Given the description of an element on the screen output the (x, y) to click on. 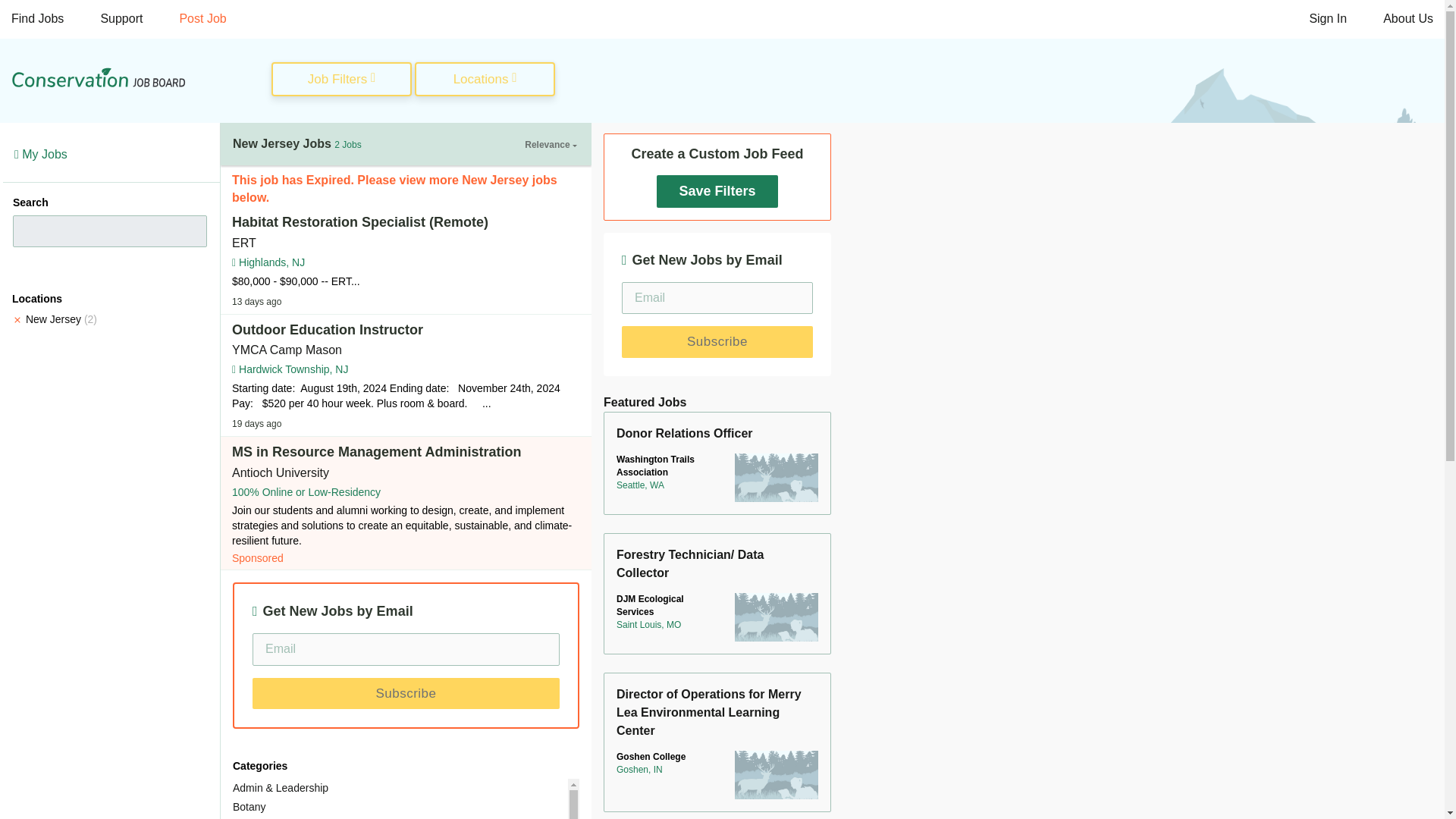
Job Filters (341, 79)
Locations (484, 79)
About Us (1408, 19)
Find Jobs (37, 19)
Sign In (1327, 19)
Support (121, 19)
Post Job (202, 19)
